Given the description of an element on the screen output the (x, y) to click on. 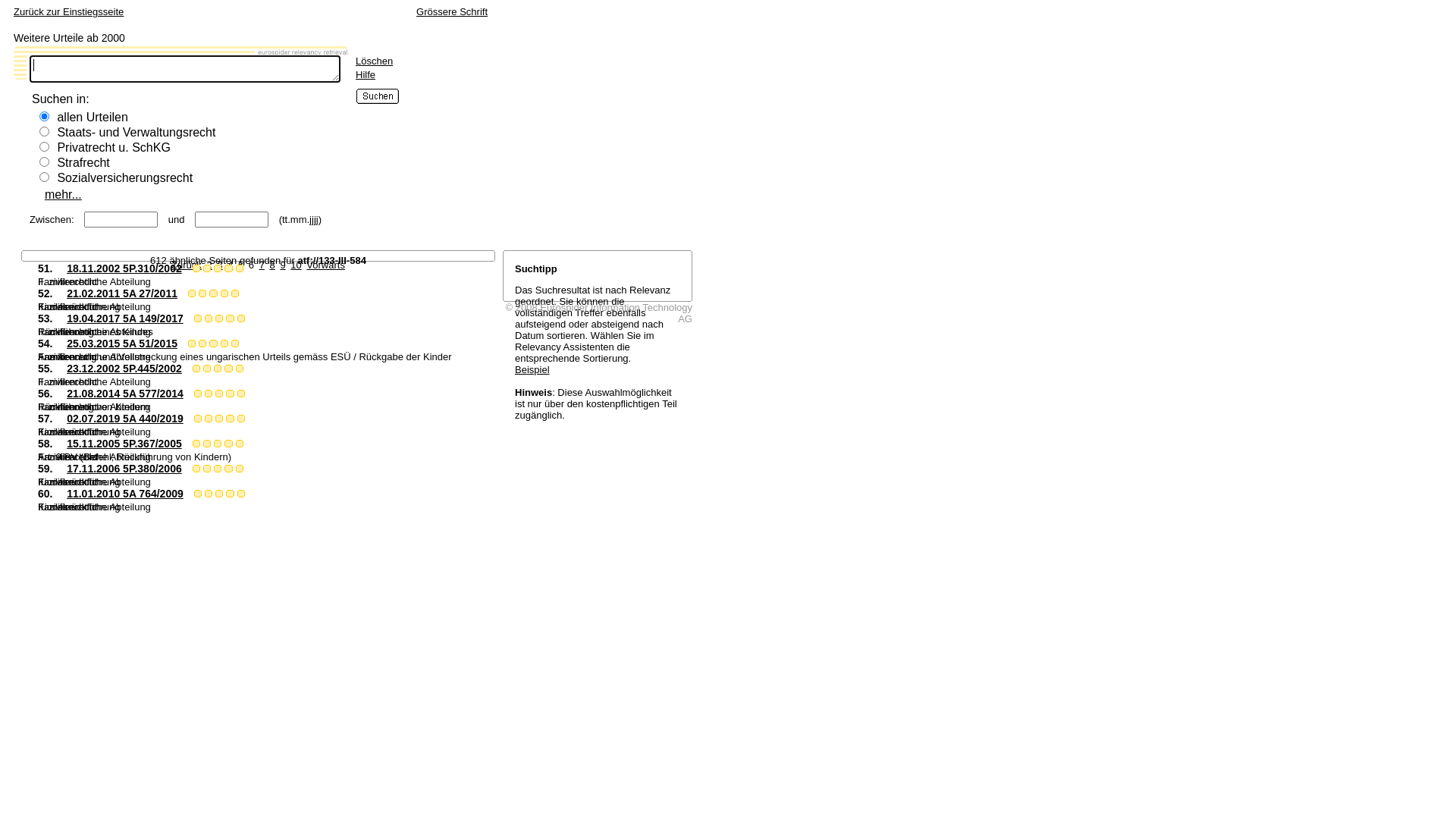
Startdatum im Format tt.mm.jjjj Element type: hover (120, 219)
Relevanz 93% Element type: hover (217, 443)
Relevanz 93% Element type: hover (234, 293)
Relevanz 93% Element type: hover (208, 318)
02.07.2019 5A 440/2019 Element type: text (124, 418)
Relevanz 93% Element type: hover (212, 293)
Relevanz 93% Element type: hover (217, 268)
Relevanz 93% Element type: hover (196, 443)
Relevanz 93% Element type: hover (228, 443)
Relevanz 93% Element type: hover (218, 318)
Relevanz 93% Element type: hover (196, 268)
5 Element type: text (240, 264)
Relevanz 93% Element type: hover (208, 493)
Relevanz 93% Element type: hover (218, 393)
4 Element type: text (229, 264)
Relevanz 93% Element type: hover (208, 418)
3 Element type: text (219, 264)
2 Element type: text (208, 264)
8 Element type: text (272, 264)
Relevanz 93% Element type: hover (191, 343)
Relevanz 93% Element type: hover (240, 493)
10 Element type: text (295, 264)
Relevanz 93% Element type: hover (197, 318)
Relevanz 93% Element type: hover (228, 268)
Relevanz 93% Element type: hover (224, 293)
17.11.2006 5P.380/2006 Element type: text (124, 468)
Eurospider Information Technology AG Element type: text (615, 312)
Relevanz 93% Element type: hover (197, 493)
Relevanz 93% Element type: hover (240, 418)
Relevanz 93% Element type: hover (239, 468)
Relevanz 93% Element type: hover (217, 368)
Relevanz 93% Element type: hover (229, 393)
Relevanz 93% Element type: hover (228, 368)
Relevanz 93% Element type: hover (218, 493)
Relevanz 93% Element type: hover (206, 268)
mehr... Element type: text (56, 194)
Relevanz 93% Element type: hover (218, 418)
23.12.2002 5P.445/2002 Element type: text (124, 368)
Relevanz 93% Element type: hover (202, 343)
Relevanz 93% Element type: hover (191, 293)
11.01.2010 5A 764/2009 Element type: text (124, 493)
Relevanz 93% Element type: hover (208, 393)
Relevanz 93% Element type: hover (206, 368)
Relevanz 93% Element type: hover (196, 368)
Relevanz 93% Element type: hover (197, 418)
Relevanz 93% Element type: hover (234, 343)
Enddatum im Format tt.mm.jjjj Element type: hover (231, 219)
Relevanz 93% Element type: hover (228, 468)
Relevanz 93% Element type: hover (206, 468)
Relevanz 93% Element type: hover (239, 443)
Relevanz 93% Element type: hover (229, 318)
19.04.2017 5A 149/2017 Element type: text (124, 318)
9 Element type: text (282, 264)
Relevanz 93% Element type: hover (217, 468)
7 Element type: text (261, 264)
Beispiel Element type: text (531, 369)
21.02.2011 5A 27/2011 Element type: text (121, 293)
Relevanz 93% Element type: hover (197, 393)
Relevanz 93% Element type: hover (229, 493)
Relevanz 93% Element type: hover (196, 468)
Relevanz 93% Element type: hover (202, 293)
25.03.2015 5A 51/2015 Element type: text (121, 343)
Relevanz 93% Element type: hover (206, 443)
18.11.2002 5P.310/2002 Element type: text (124, 268)
Relevanz 93% Element type: hover (240, 318)
Relevanz 93% Element type: hover (229, 418)
Relevanz 93% Element type: hover (224, 343)
Relevanz 93% Element type: hover (239, 368)
Relevanz 93% Element type: hover (240, 393)
Hilfe Element type: text (365, 74)
Relevanz 93% Element type: hover (239, 268)
Relevanz 93% Element type: hover (212, 343)
21.08.2014 5A 577/2014 Element type: text (124, 393)
15.11.2005 5P.367/2005 Element type: text (124, 443)
